Given the description of an element on the screen output the (x, y) to click on. 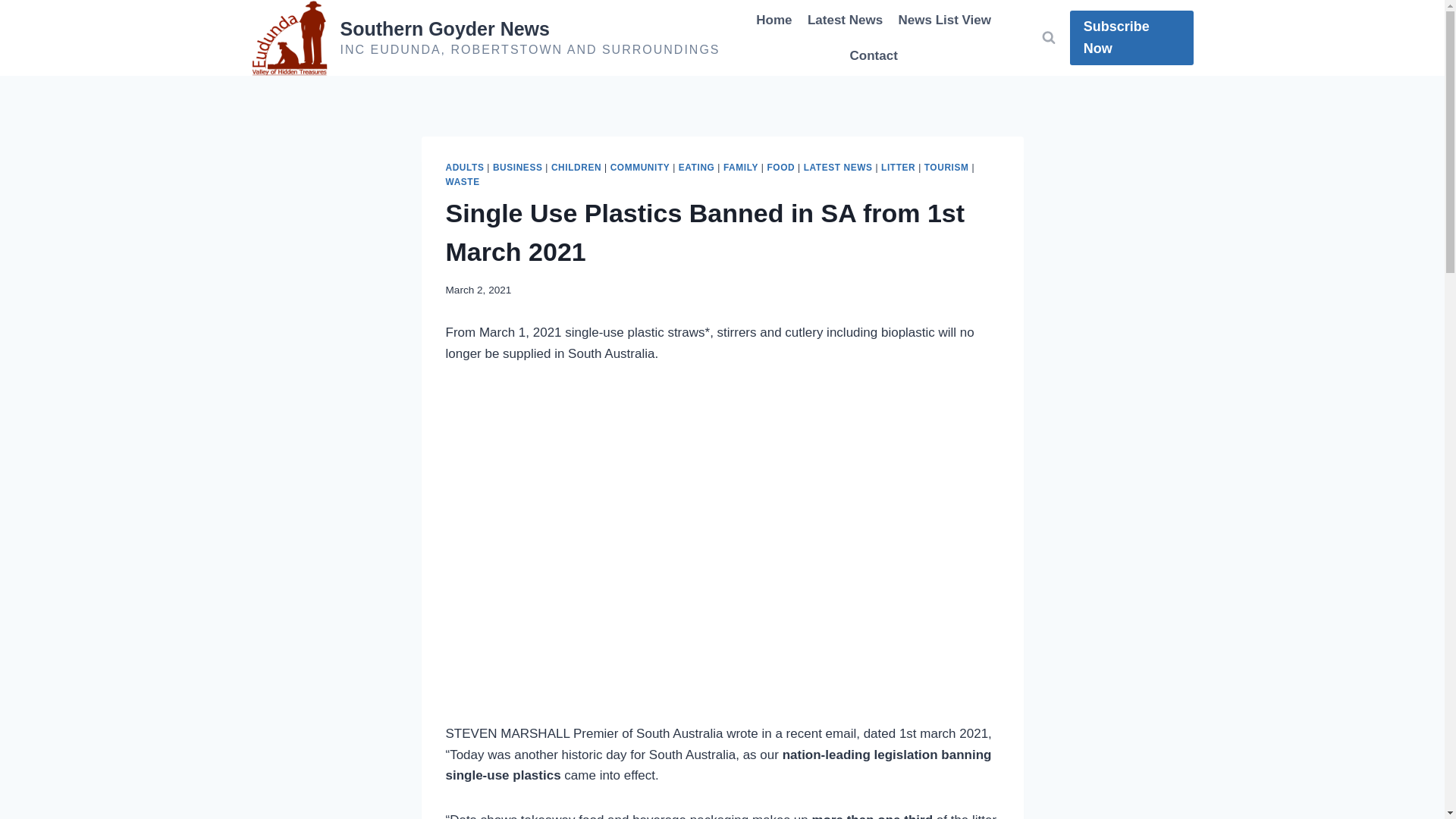
COMMUNITY (639, 167)
News List View (943, 19)
ADULTS (464, 167)
Contact (873, 55)
TOURISM (946, 167)
FOOD (780, 167)
Home (773, 19)
LITTER (897, 167)
BUSINESS (518, 167)
